Given the description of an element on the screen output the (x, y) to click on. 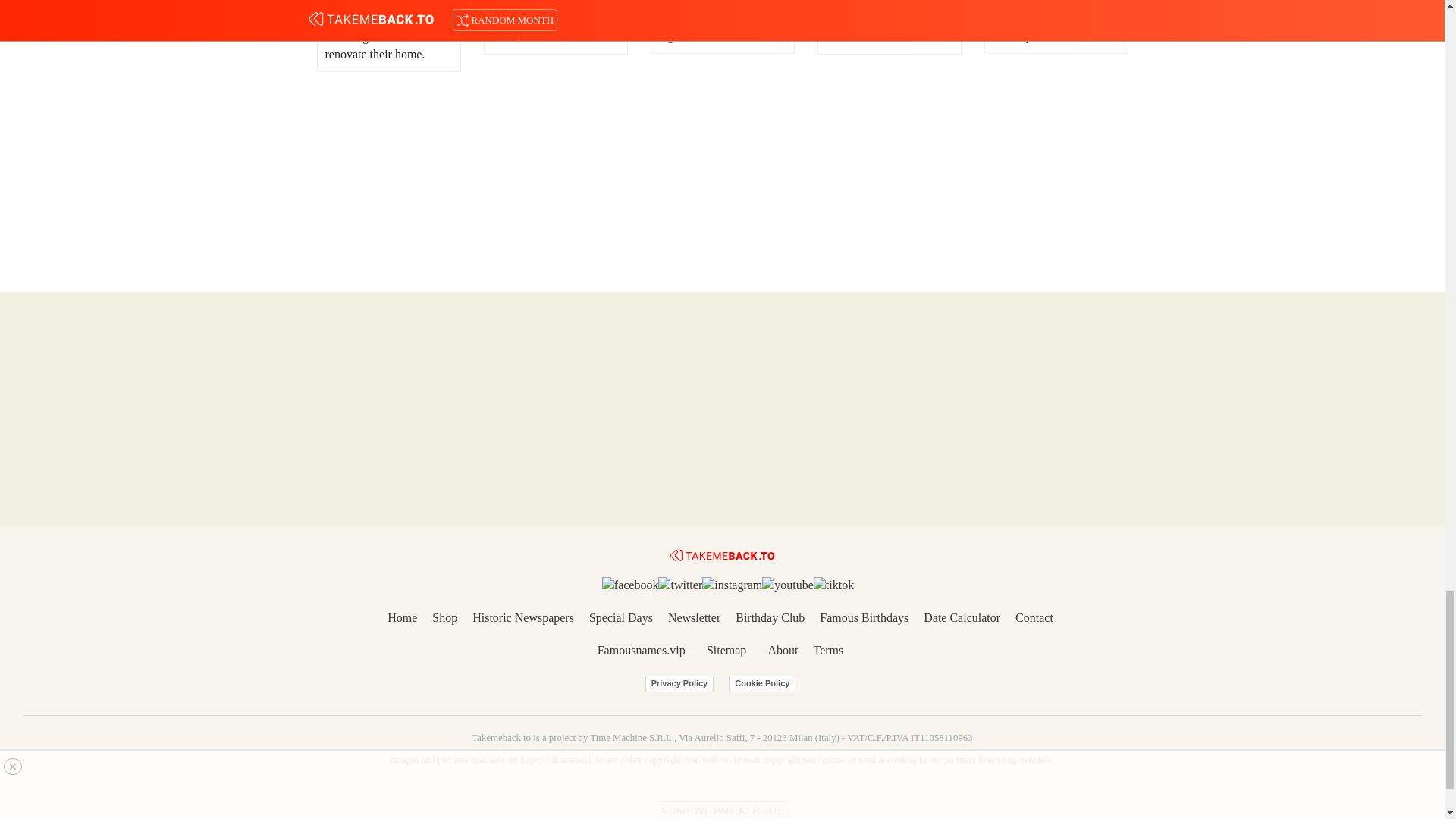
Privacy Policy  (679, 683)
Cookie Policy  (761, 683)
